Given the description of an element on the screen output the (x, y) to click on. 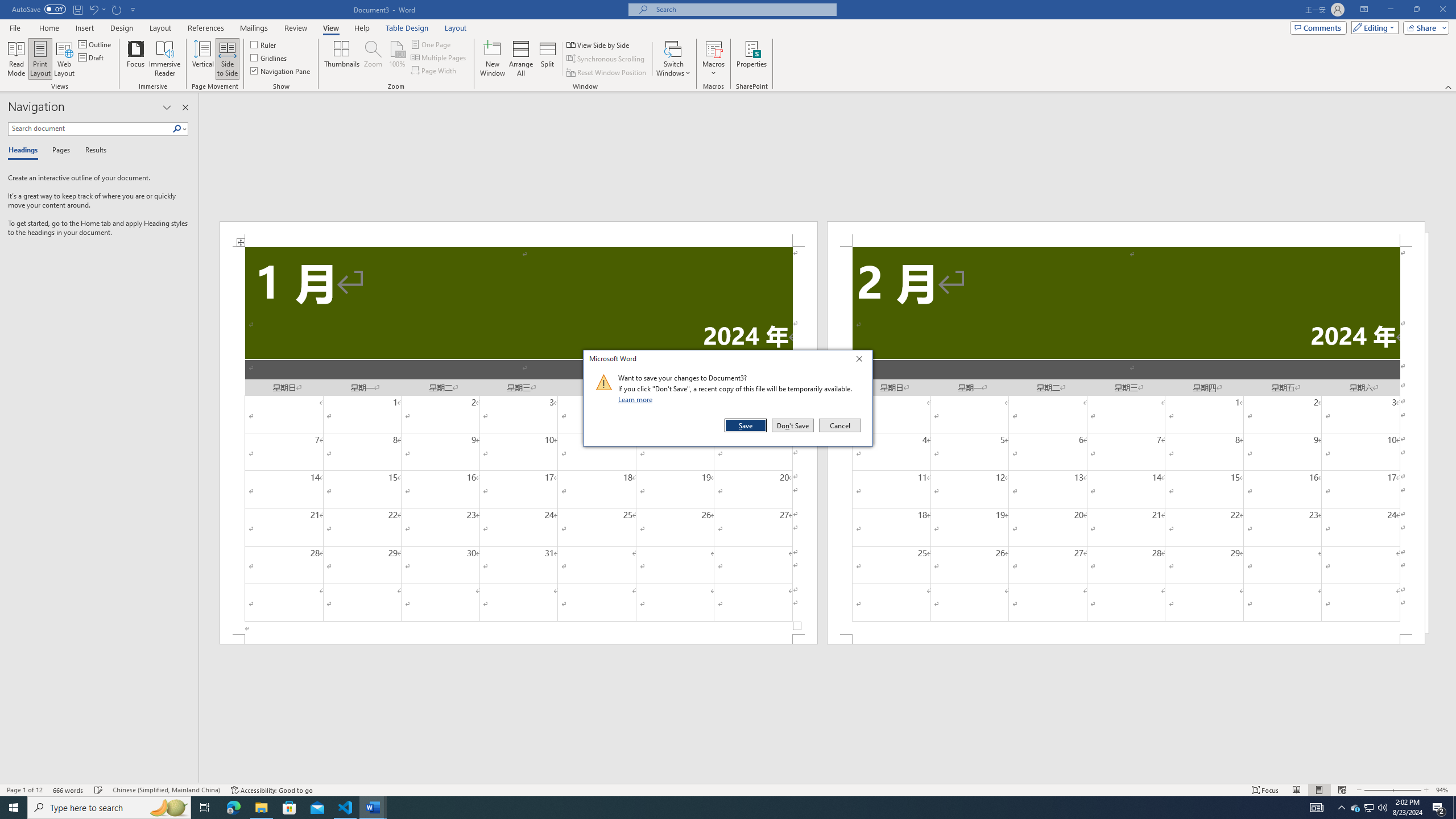
Draft (91, 56)
Word Count 666 words (68, 790)
Microsoft Store (289, 807)
Properties (751, 58)
